Given the description of an element on the screen output the (x, y) to click on. 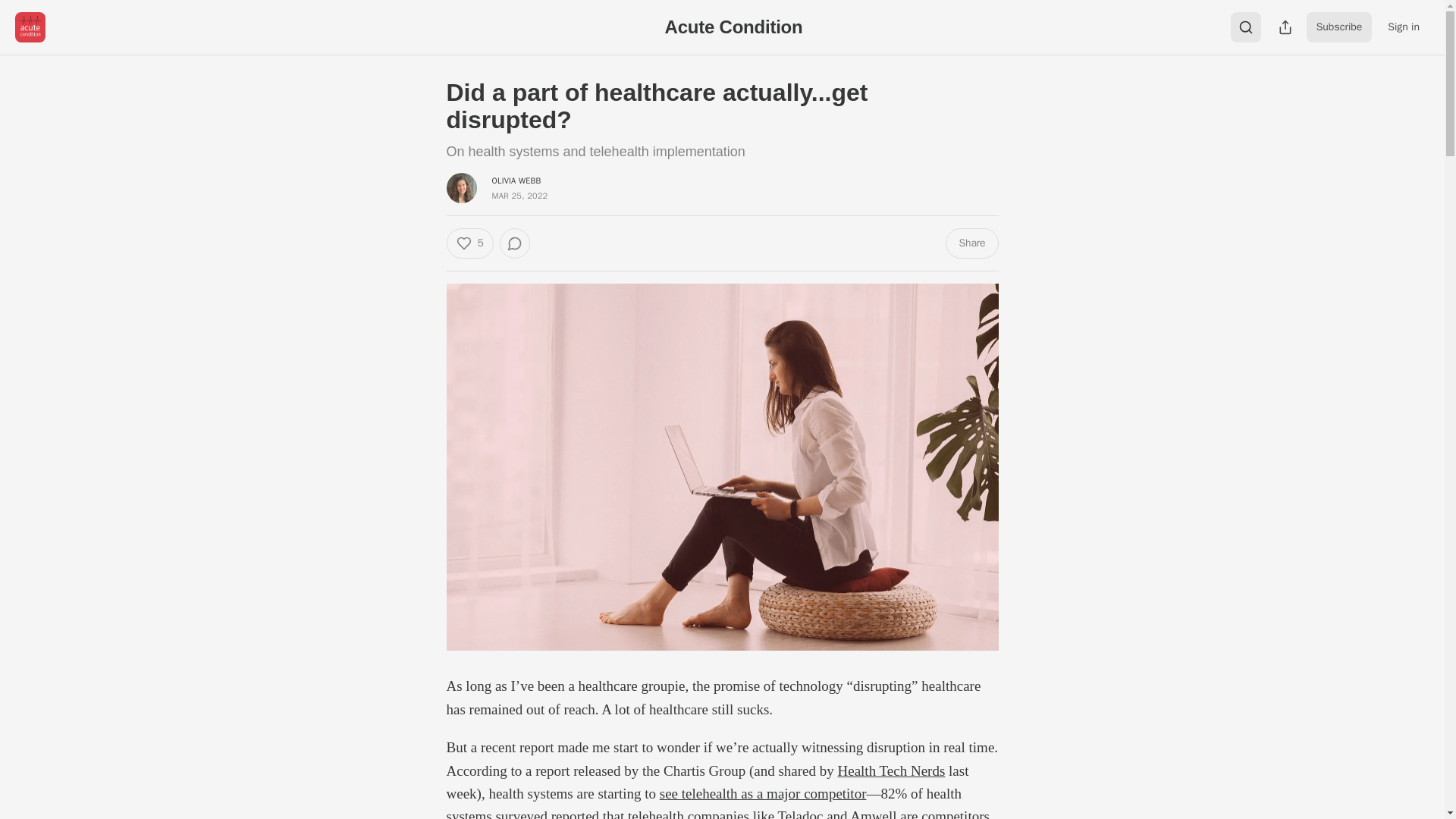
Sign in (1403, 27)
see telehealth as a major competitor (762, 793)
Acute Condition (734, 26)
5 (469, 243)
Share (970, 243)
OLIVIA WEBB (516, 180)
Health Tech Nerds (890, 770)
Subscribe (1339, 27)
